Given the description of an element on the screen output the (x, y) to click on. 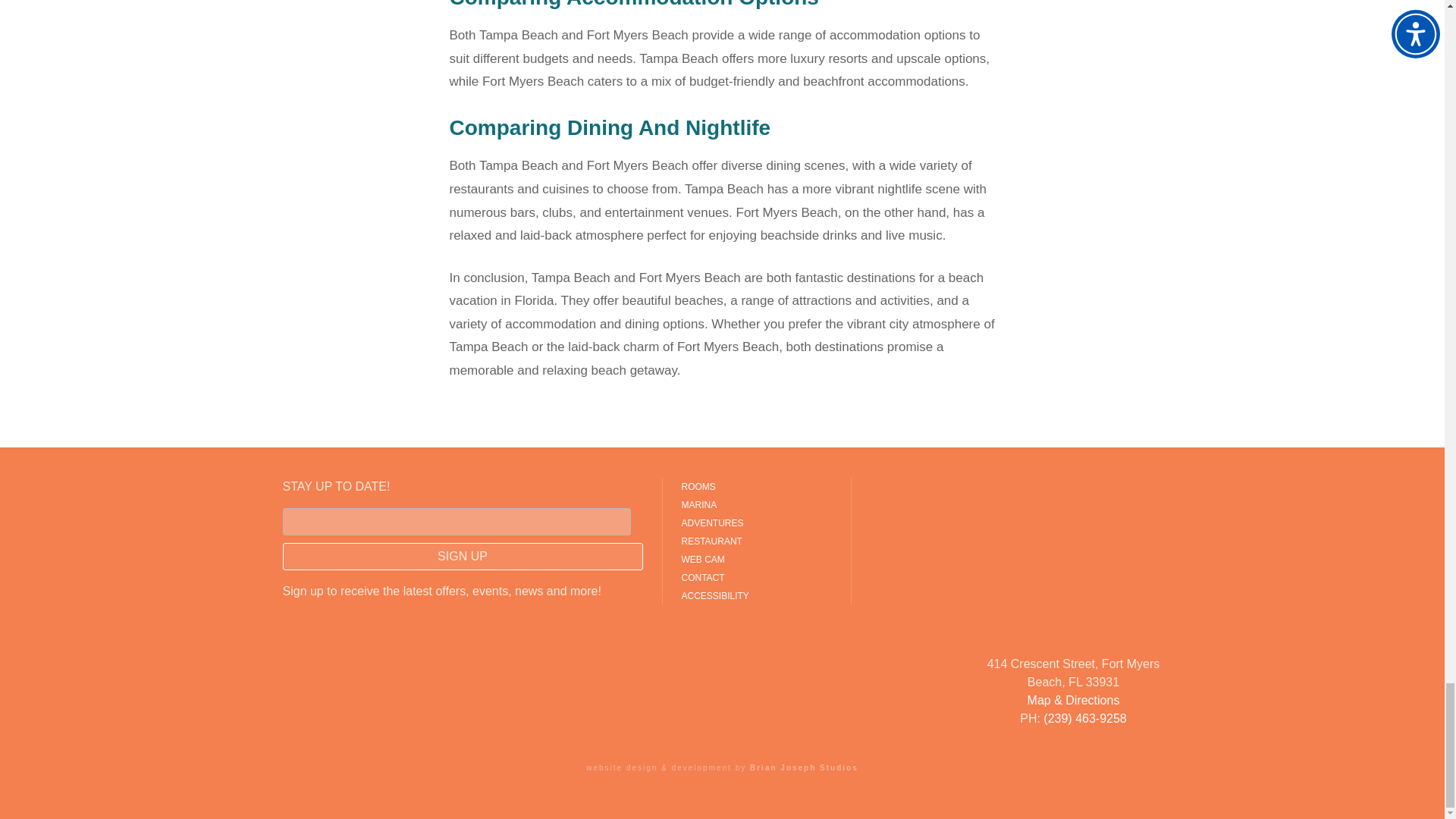
Sign Up (462, 556)
ROOMS (756, 486)
Brian Joseph Studios Naples Web Design (804, 767)
ADVENTURES (756, 523)
WEB CAM (756, 559)
MARINA (756, 505)
ACCESSIBILITY (756, 596)
Google Plus (883, 524)
RESTAURANT (756, 541)
Sign Up (462, 556)
Facebook (883, 490)
CONTACT (756, 577)
